Given the description of an element on the screen output the (x, y) to click on. 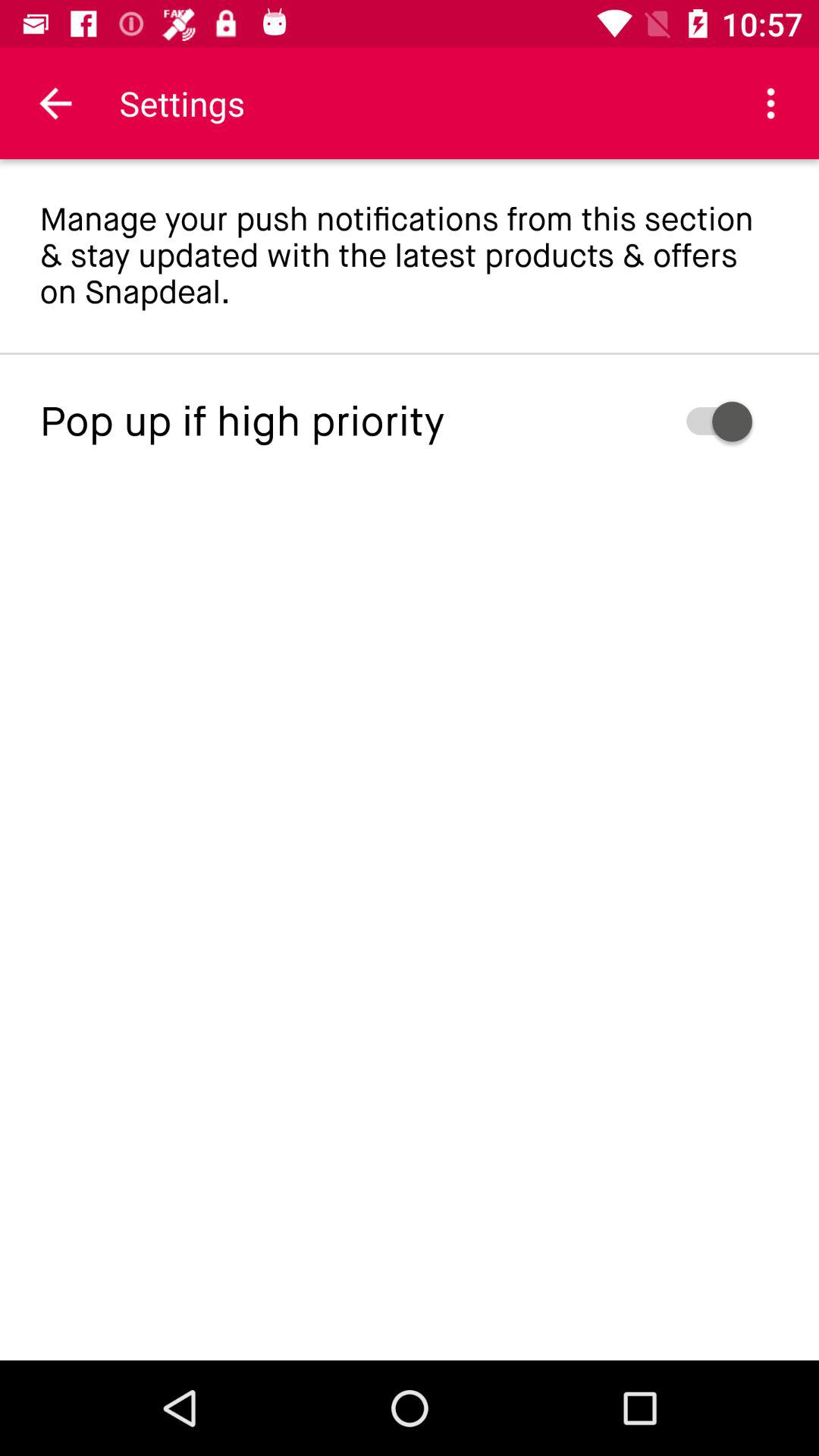
turn off the app to the left of the settings app (55, 103)
